Given the description of an element on the screen output the (x, y) to click on. 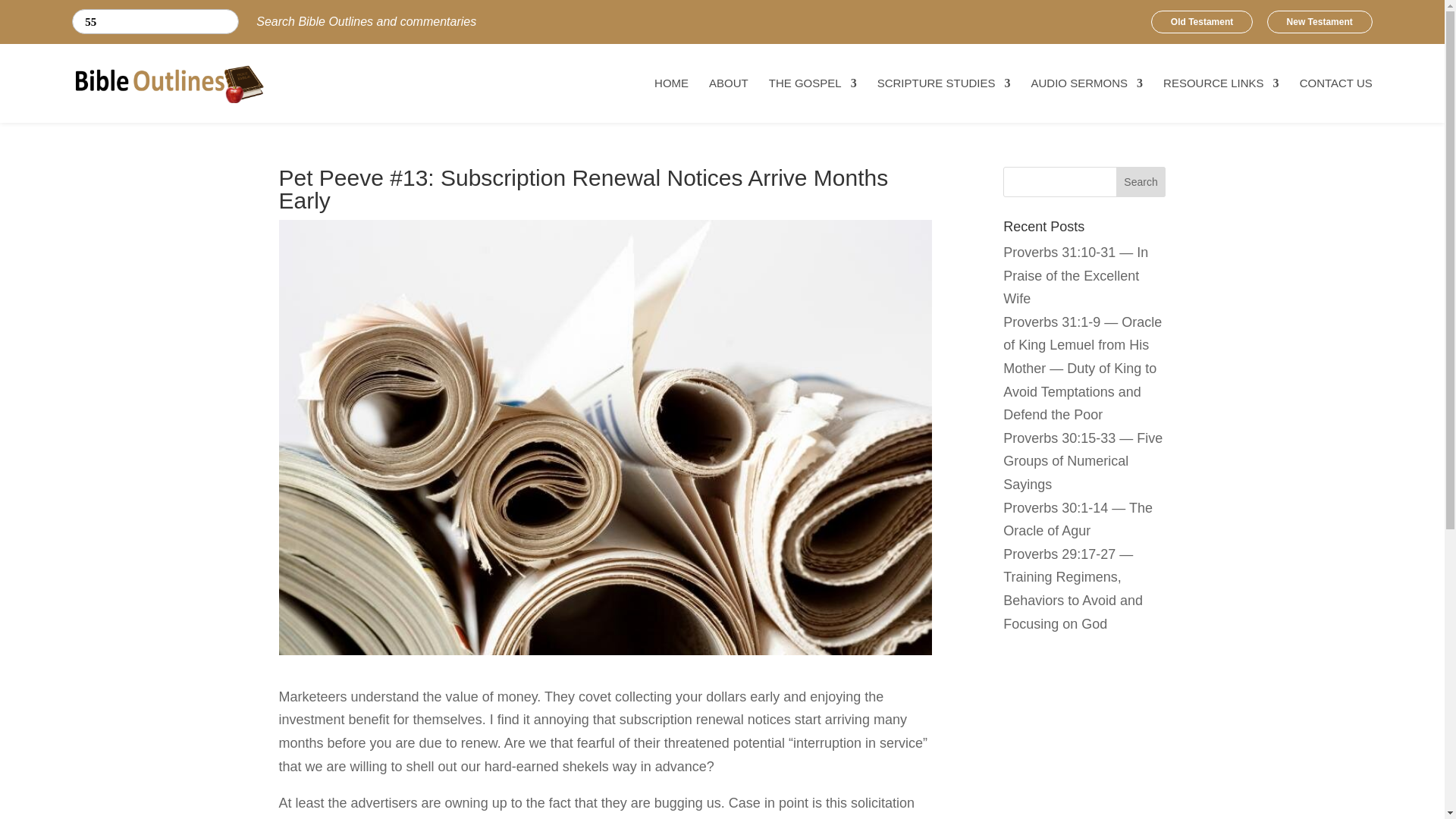
THE GOSPEL (812, 88)
Search (86, 22)
Search (86, 22)
Search (1141, 182)
ABOUT (728, 88)
HOME (670, 88)
Old Testament (1201, 21)
AUDIO SERMONS (1086, 88)
SCRIPTURE STUDIES (943, 88)
New Testament (1319, 21)
